Given the description of an element on the screen output the (x, y) to click on. 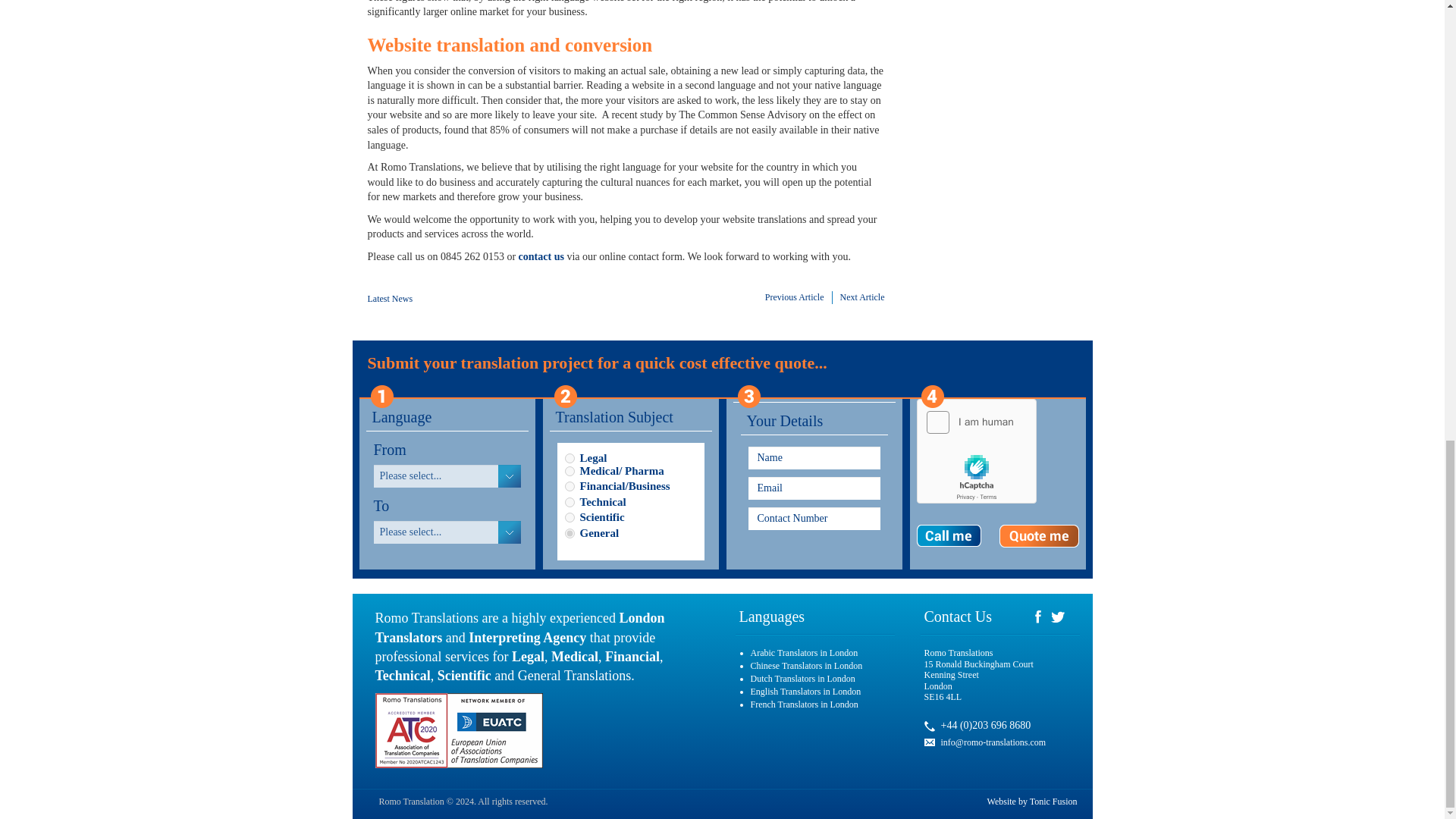
Technical (568, 501)
Scientific (568, 517)
Widget containing checkbox for hCaptcha security challenge (978, 452)
Legal (568, 458)
General (568, 533)
Yes (1038, 535)
Yes (947, 535)
